Given the description of an element on the screen output the (x, y) to click on. 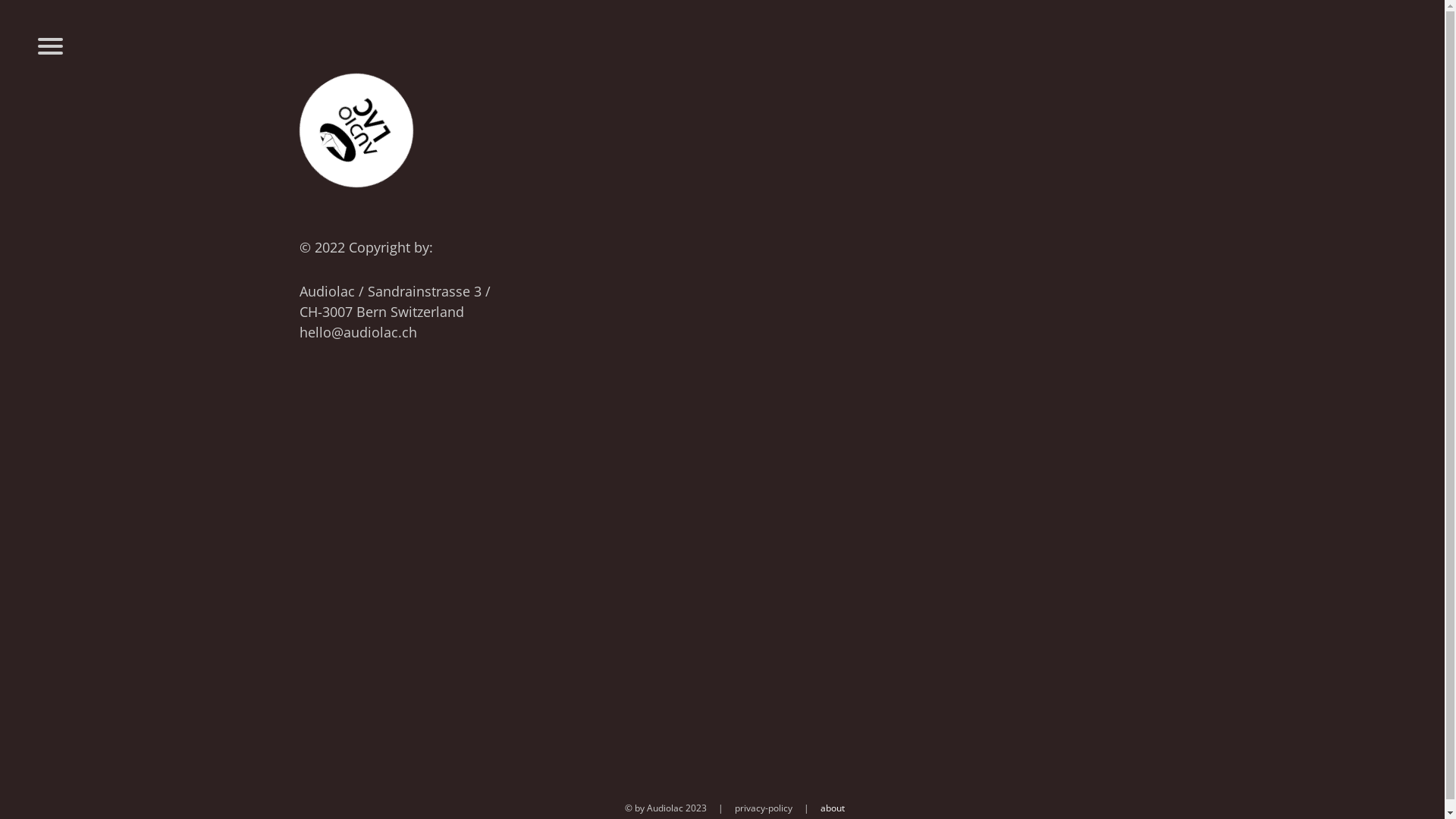
about Element type: text (832, 807)
privacy-policy Element type: text (762, 807)
